Given the description of an element on the screen output the (x, y) to click on. 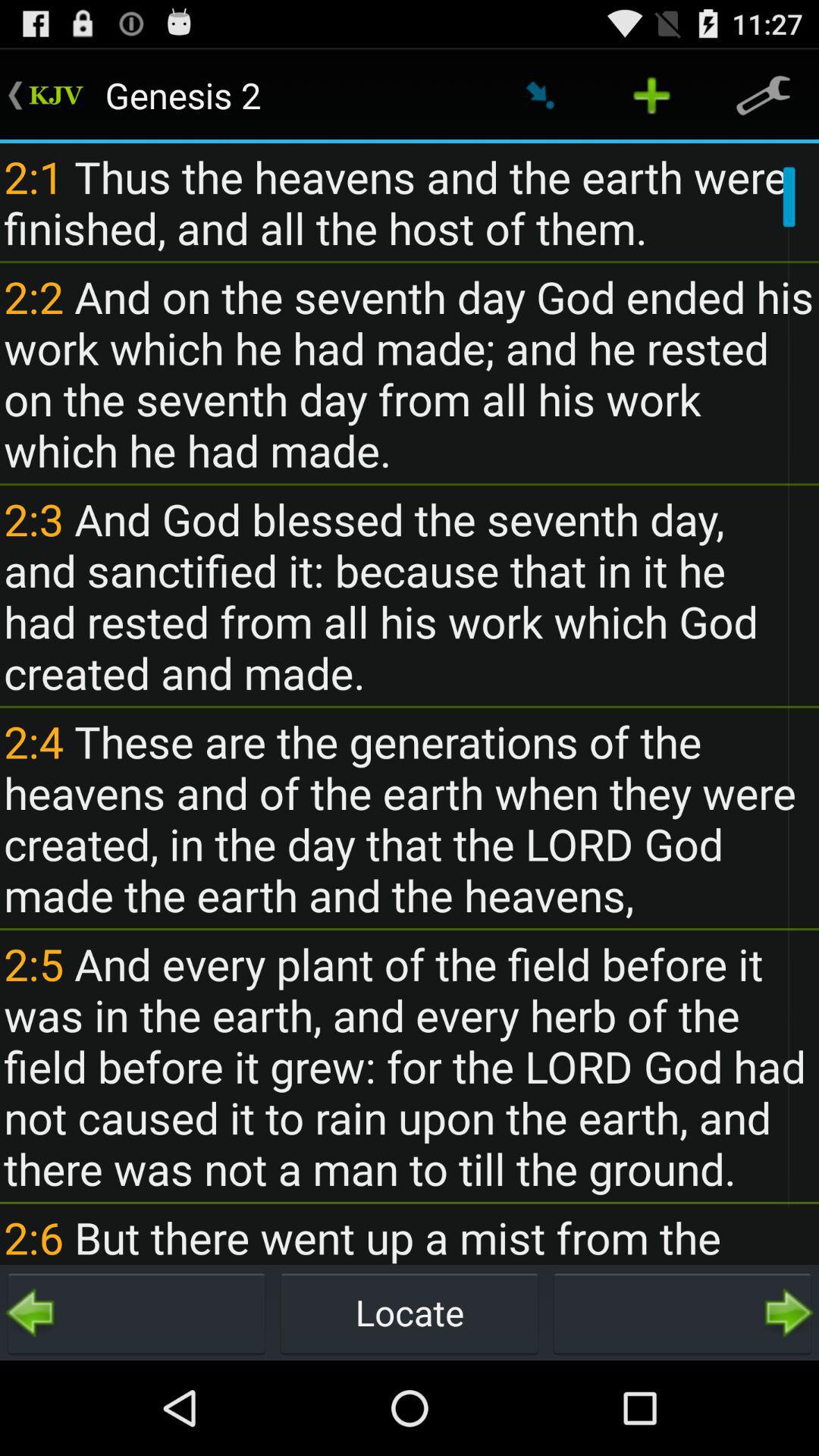
go back a page (136, 1312)
